Given the description of an element on the screen output the (x, y) to click on. 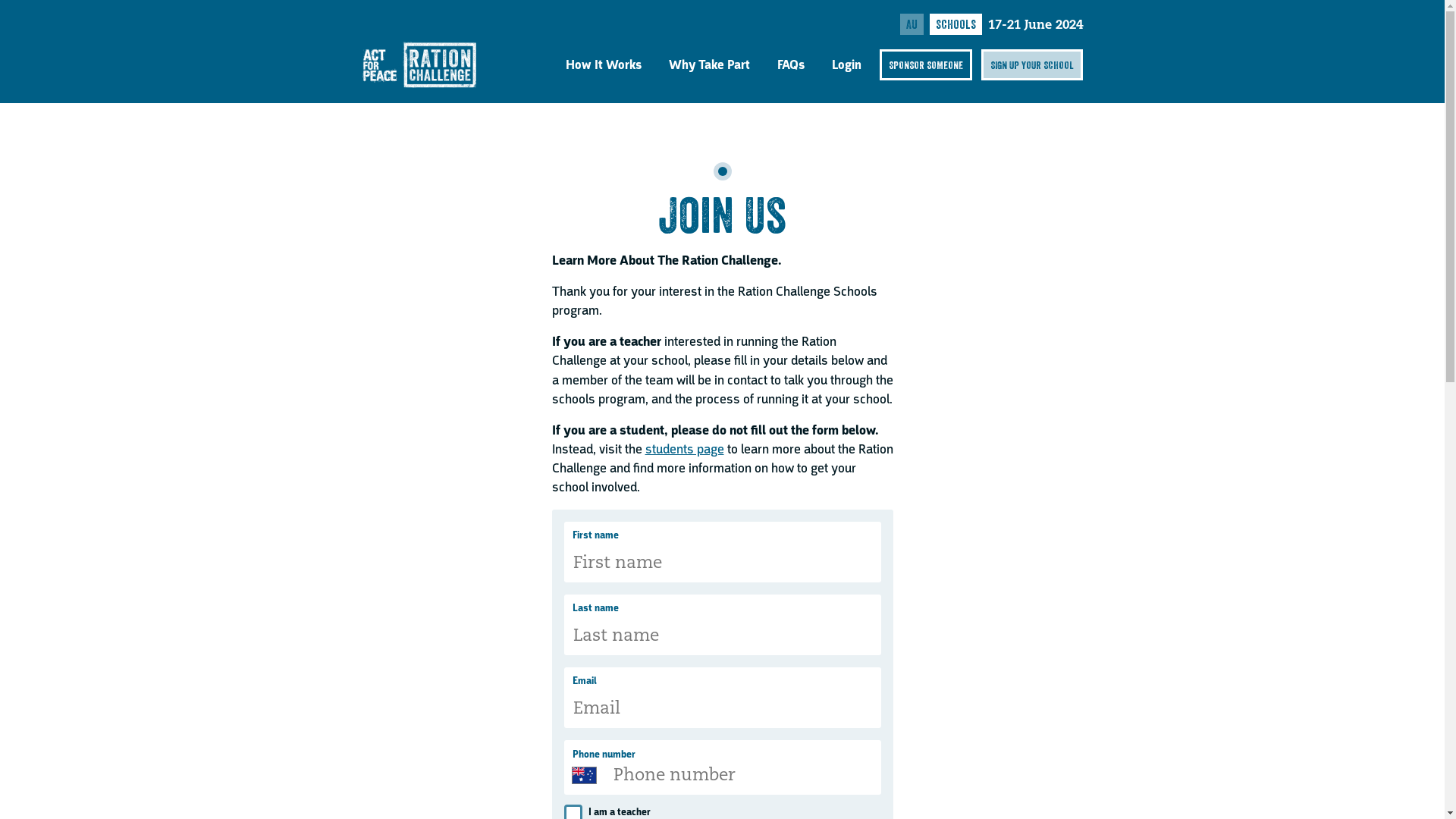
1 Element type: text (721, 171)
SIGN UP YOUR SCHOOL Element type: text (1031, 64)
FAQs Element type: text (790, 64)
AU Element type: text (910, 23)
Why Take Part Element type: text (709, 64)
students page Element type: text (683, 448)
SPONSOR SOMEONE Element type: text (925, 64)
How It Works Element type: text (603, 64)
Login Element type: text (846, 64)
